Given the description of an element on the screen output the (x, y) to click on. 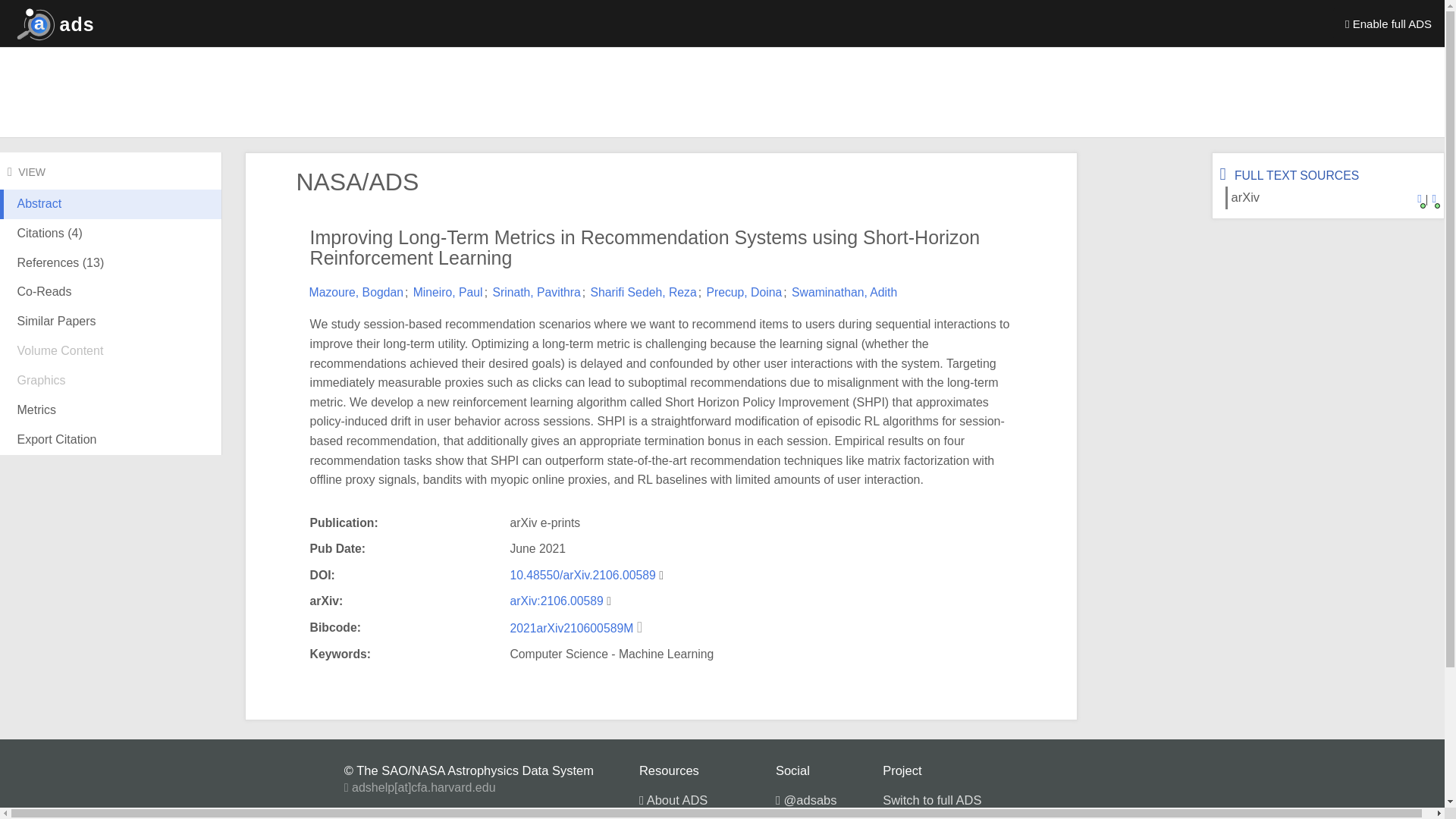
ADS Blog (806, 816)
Abstract (110, 215)
Similar Papers (110, 321)
Enable full ADS (1388, 23)
Mazoure, Bogdan (355, 291)
Precup, Doina (743, 291)
Switch to full ADS (931, 799)
arXiv:2106.00589 (555, 600)
Co-Reads (110, 292)
Mineiro, Paul (448, 291)
Export Citation (110, 440)
ads (51, 22)
Metrics (110, 410)
Swaminathan, Adith (844, 291)
Srinath, Pavithra (535, 291)
